Given the description of an element on the screen output the (x, y) to click on. 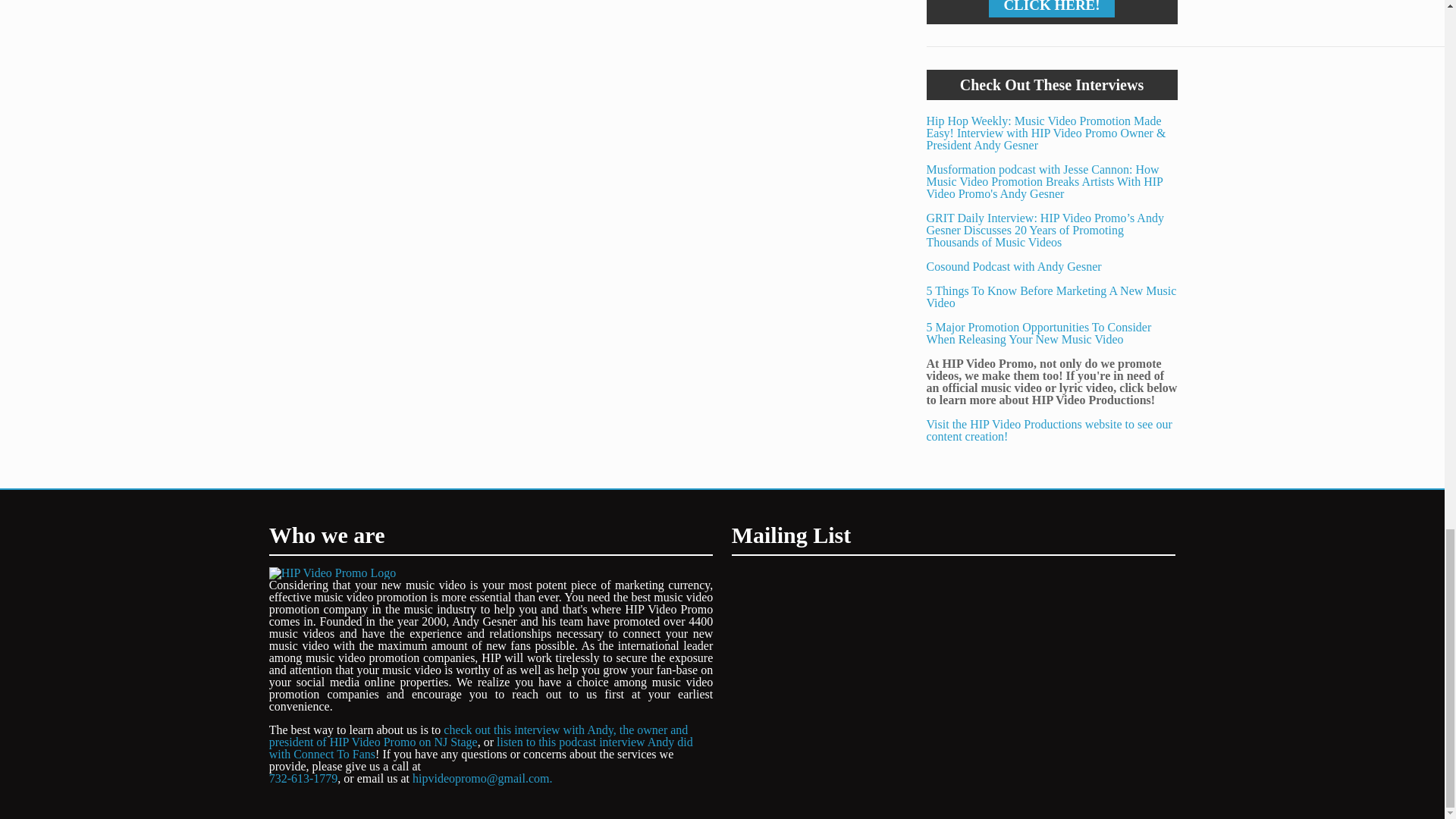
CLICK HERE! (1051, 6)
732-613-1779 (303, 778)
Cosound Podcast with Andy Gesner (1014, 266)
5 Things To Know Before Marketing A New Music Video (1051, 302)
